Given the description of an element on the screen output the (x, y) to click on. 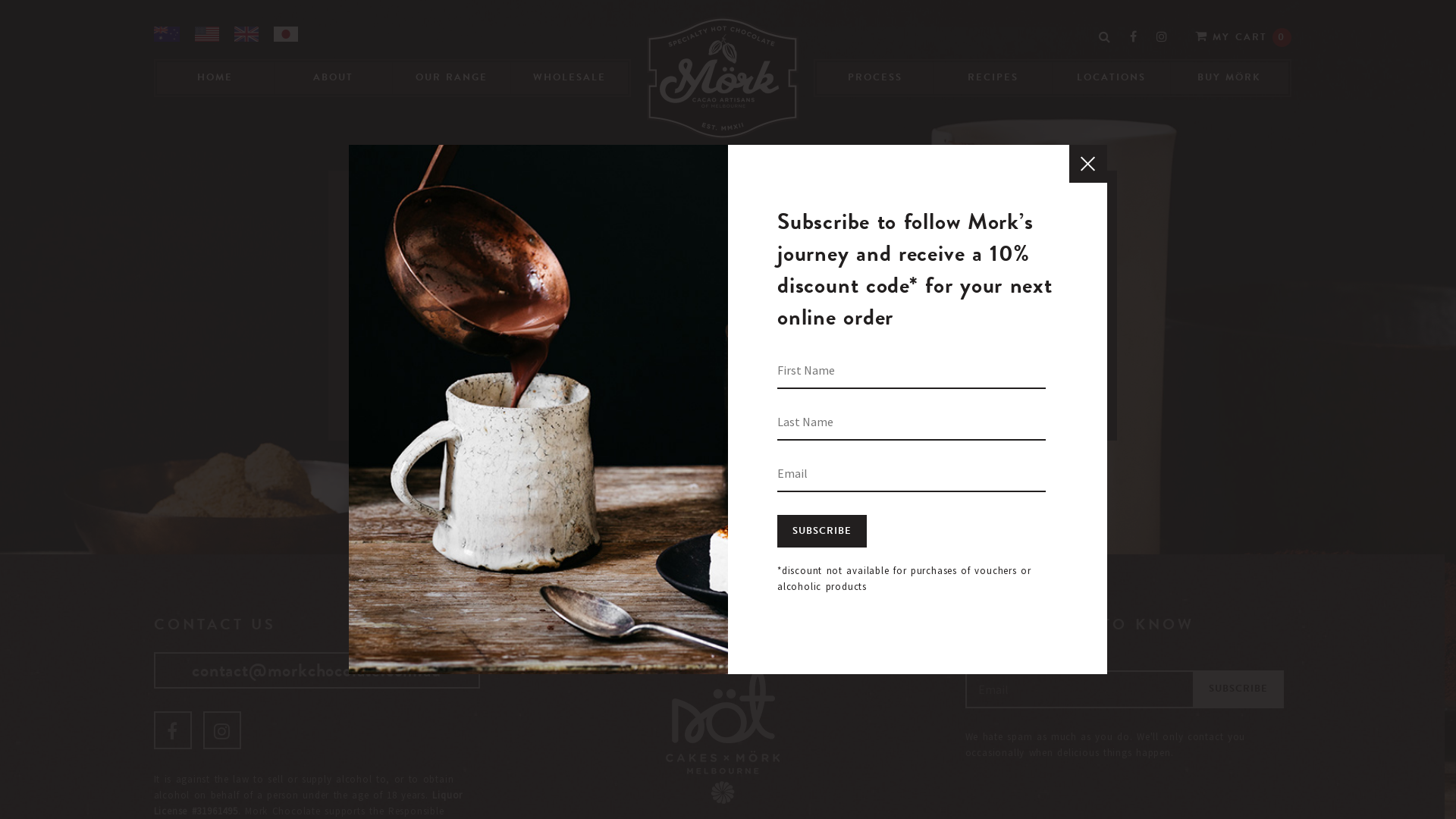
LOCATIONS Element type: text (1111, 78)
RECIPES Element type: text (992, 78)
ABOUT Element type: text (333, 78)
Subscribe Element type: text (1237, 689)
Subscribe Element type: text (821, 530)
Close (Esc) Element type: hover (1088, 163)
HOME Element type: text (214, 78)
MY CART 0 Element type: text (1243, 36)
OUR RANGE Element type: text (451, 78)
PROCESS Element type: text (875, 78)
contact@morkchocolate.com.au Element type: text (316, 670)
WHOLESALE Element type: text (569, 78)
